Given the description of an element on the screen output the (x, y) to click on. 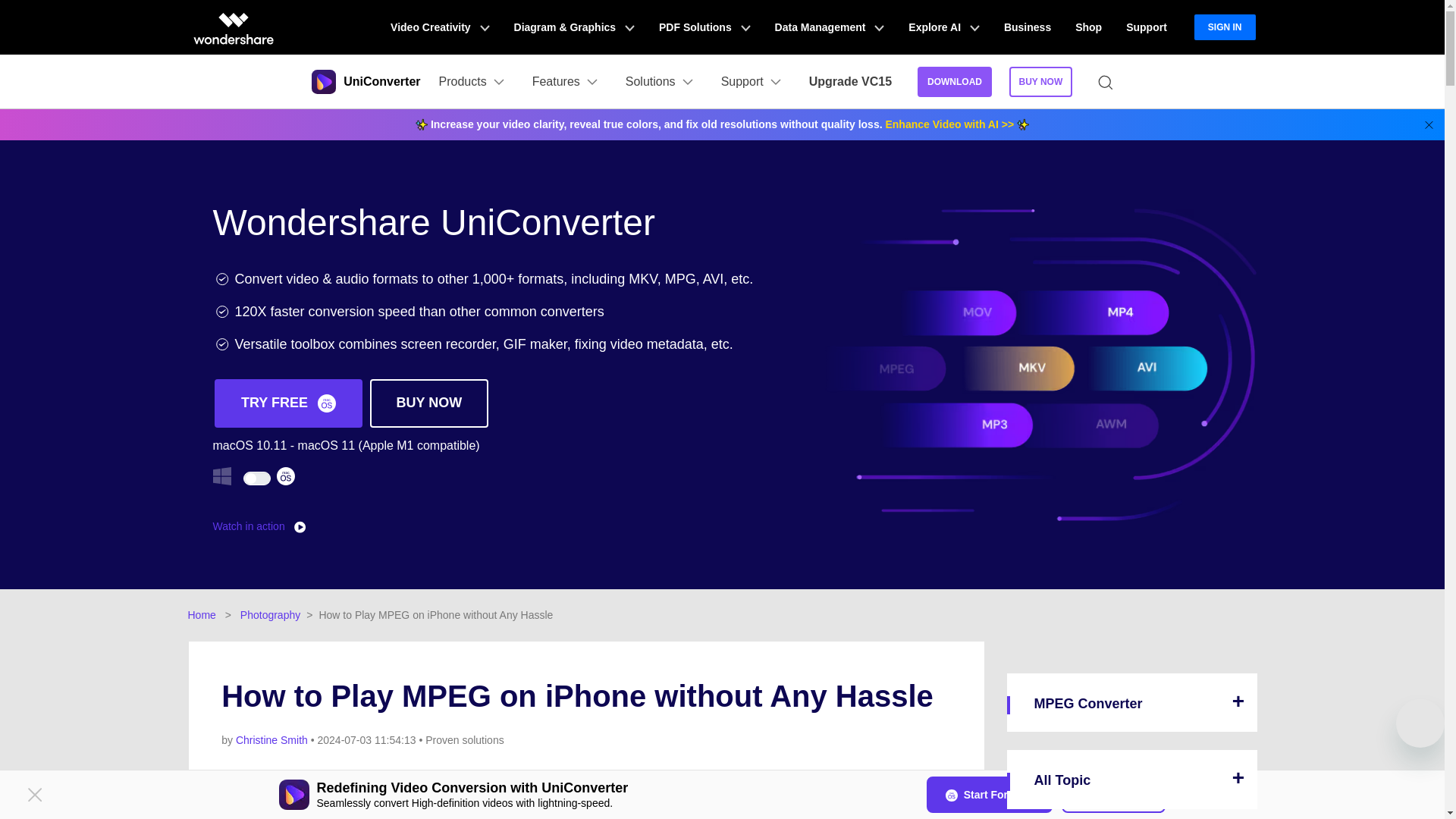
Data Management (829, 27)
PDF Solutions (704, 27)
Video Creativity (439, 27)
Explore AI (943, 27)
Start For Free (989, 794)
